Given the description of an element on the screen output the (x, y) to click on. 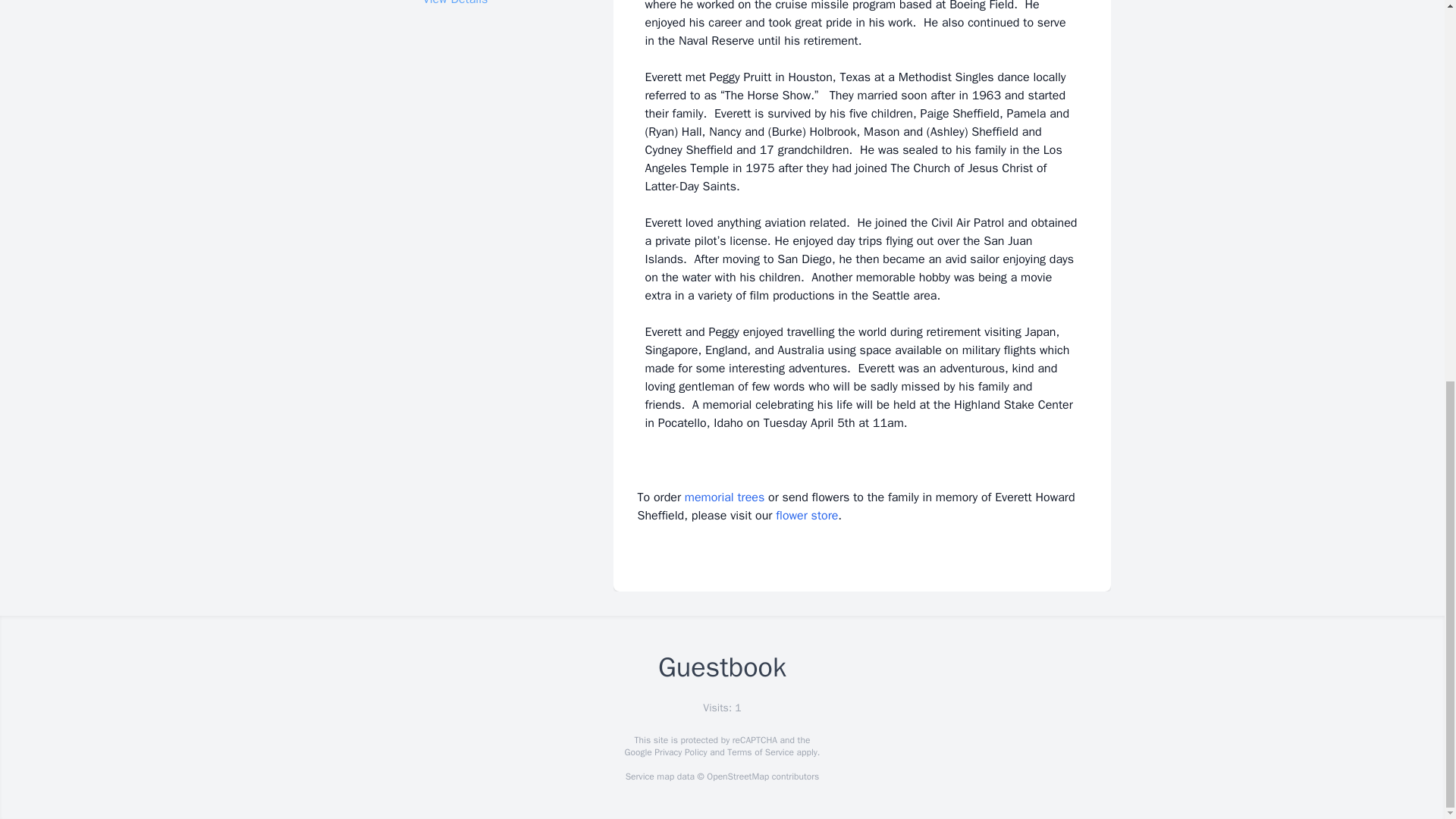
Privacy Policy (679, 752)
memorial trees (724, 497)
Terms of Service (759, 752)
View Details (455, 3)
OpenStreetMap (737, 776)
flower store (807, 515)
